Given the description of an element on the screen output the (x, y) to click on. 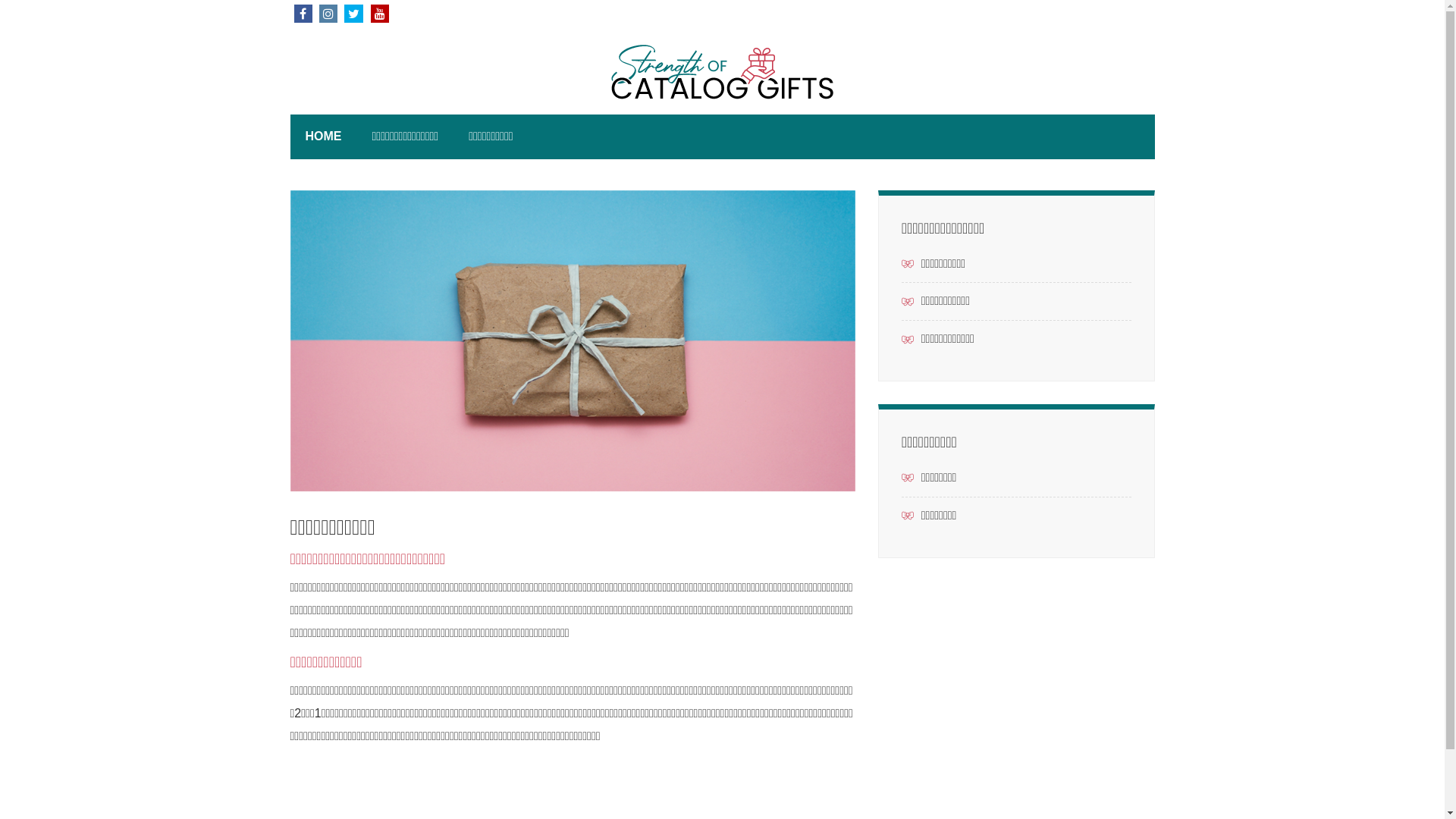
FACEBOOK Element type: text (303, 13)
YOUTUBE Element type: text (379, 13)
HOME Element type: text (322, 136)
INSTAGRAM Element type: text (328, 13)
TWITTER Element type: text (353, 13)
